Given the description of an element on the screen output the (x, y) to click on. 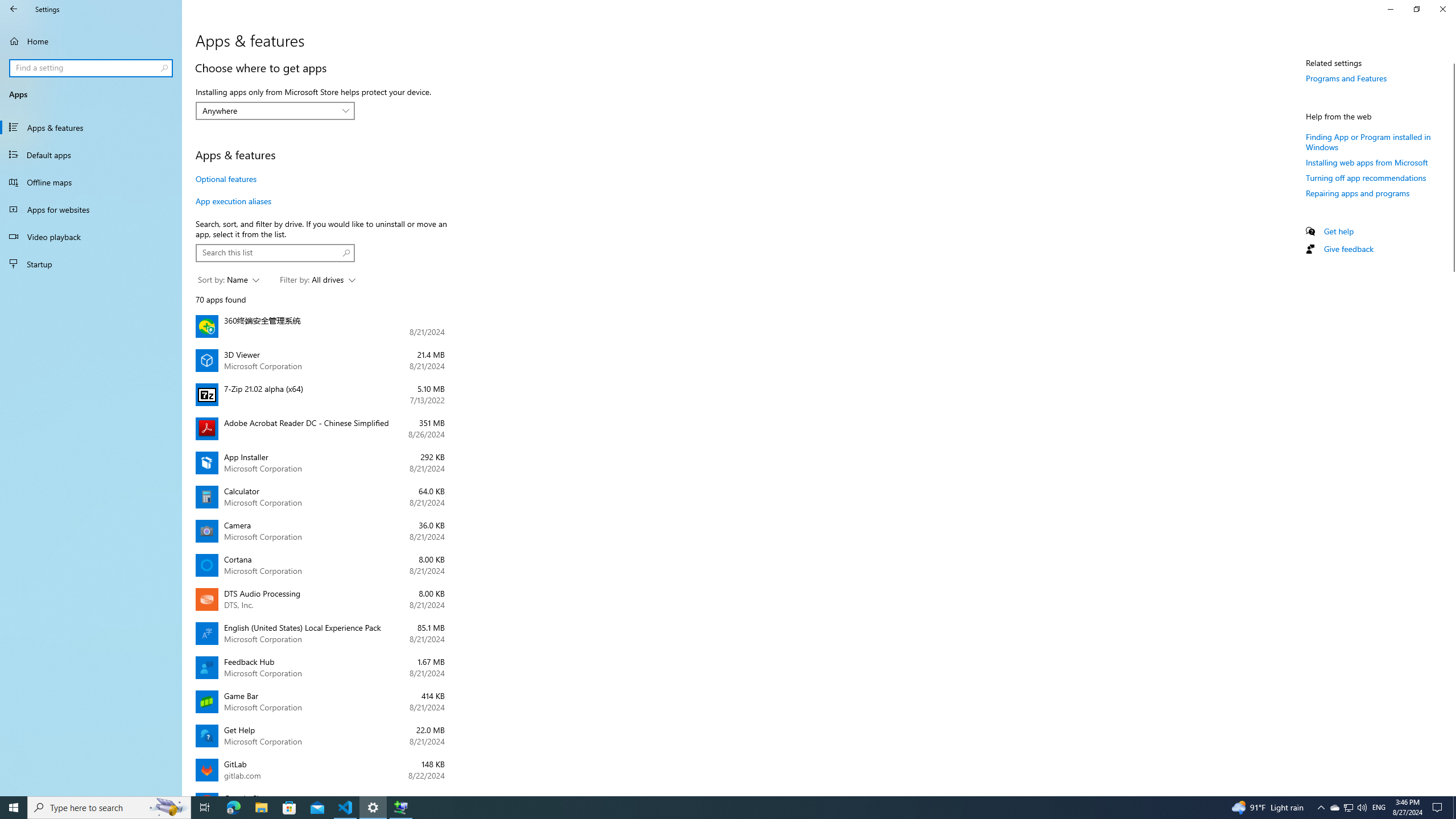
Anywhere (269, 110)
Turning off app recommendations (1366, 177)
Vertical Small Decrease (1451, 58)
Back (13, 9)
Task View (204, 807)
Optional features (226, 178)
Video playback (91, 236)
